Given the description of an element on the screen output the (x, y) to click on. 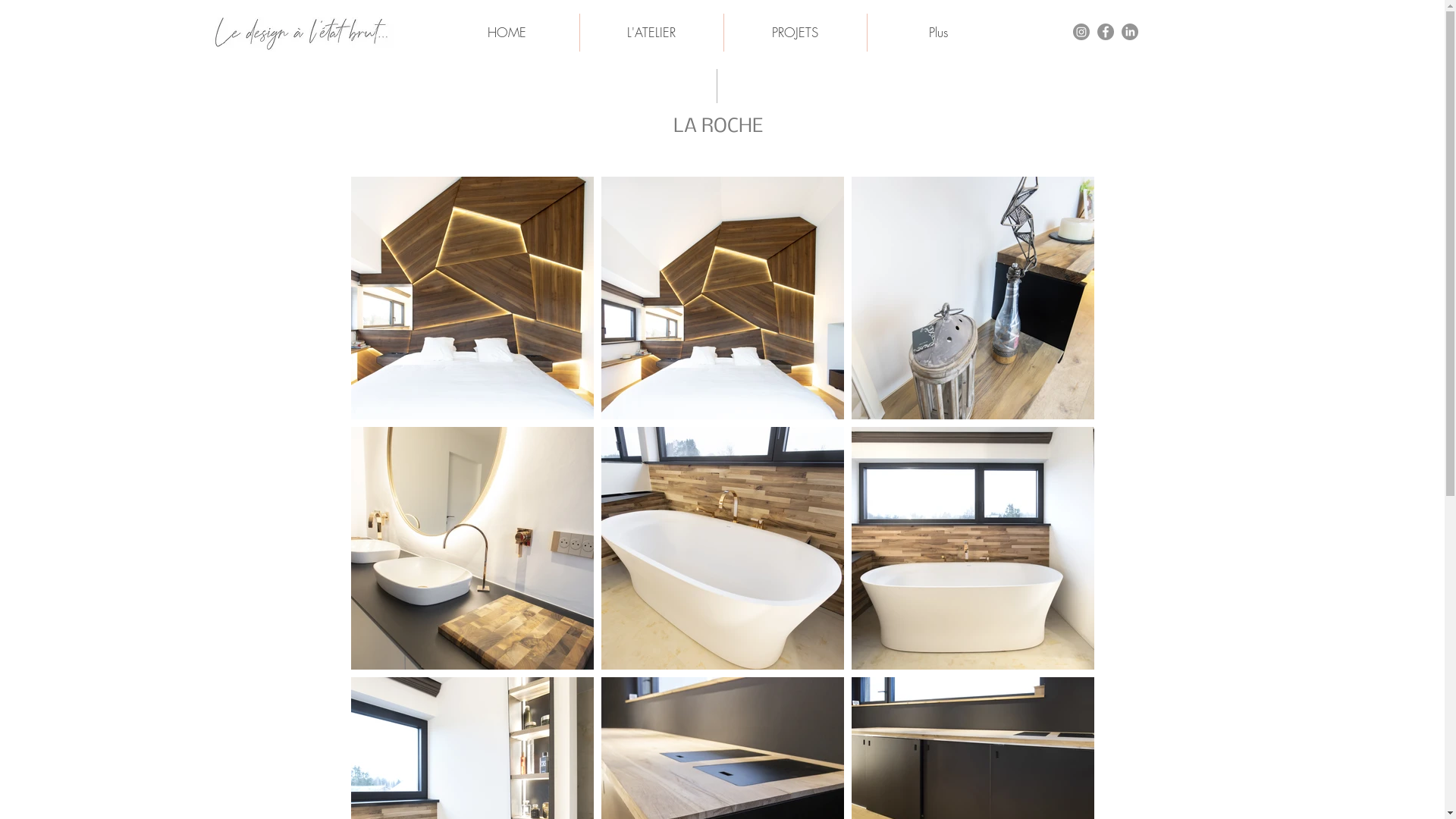
PROJETS Element type: text (794, 32)
L'ATELIER Element type: text (650, 32)
HOME Element type: text (507, 32)
